Given the description of an element on the screen output the (x, y) to click on. 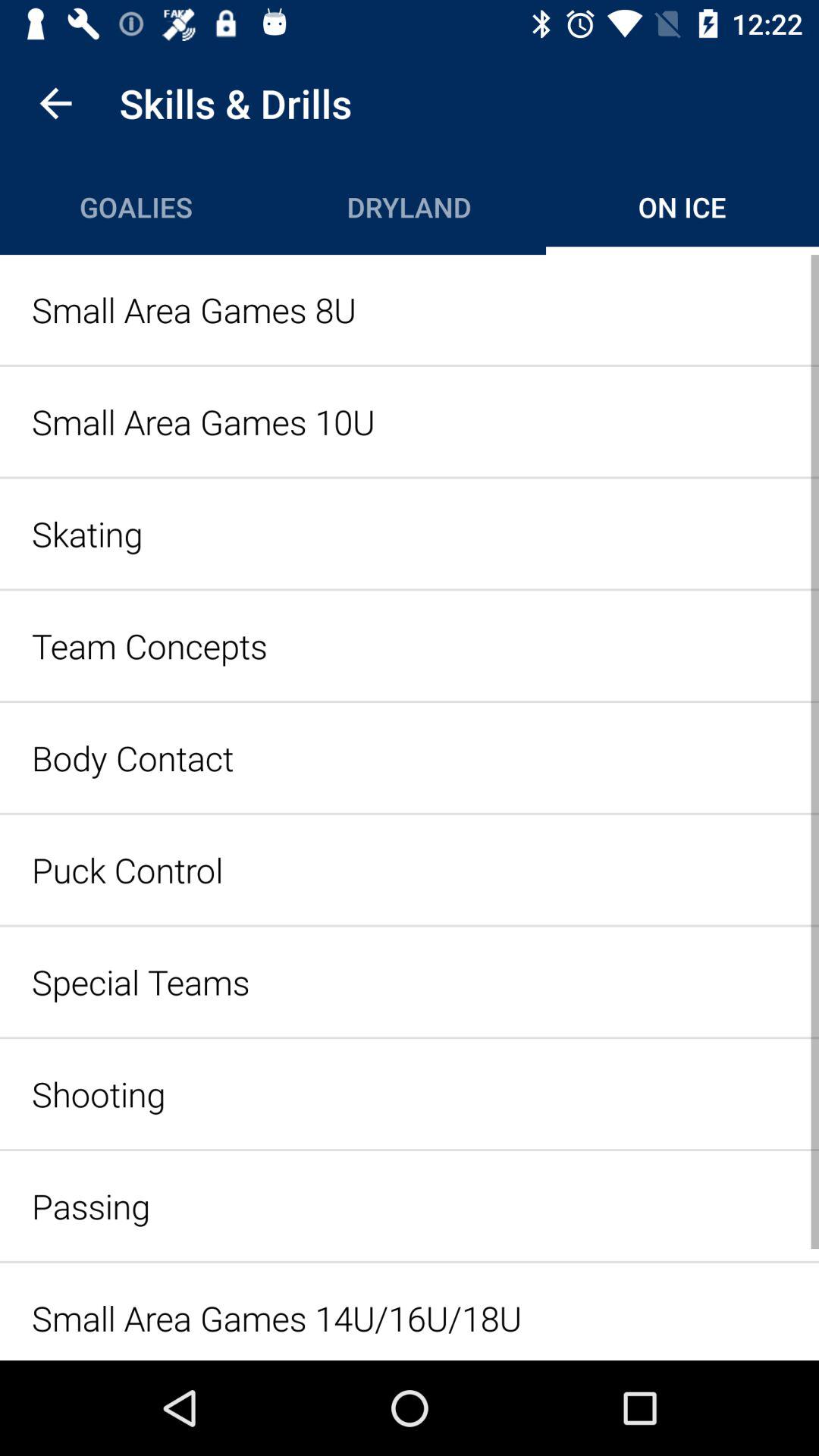
select item above goalies icon (55, 103)
